Given the description of an element on the screen output the (x, y) to click on. 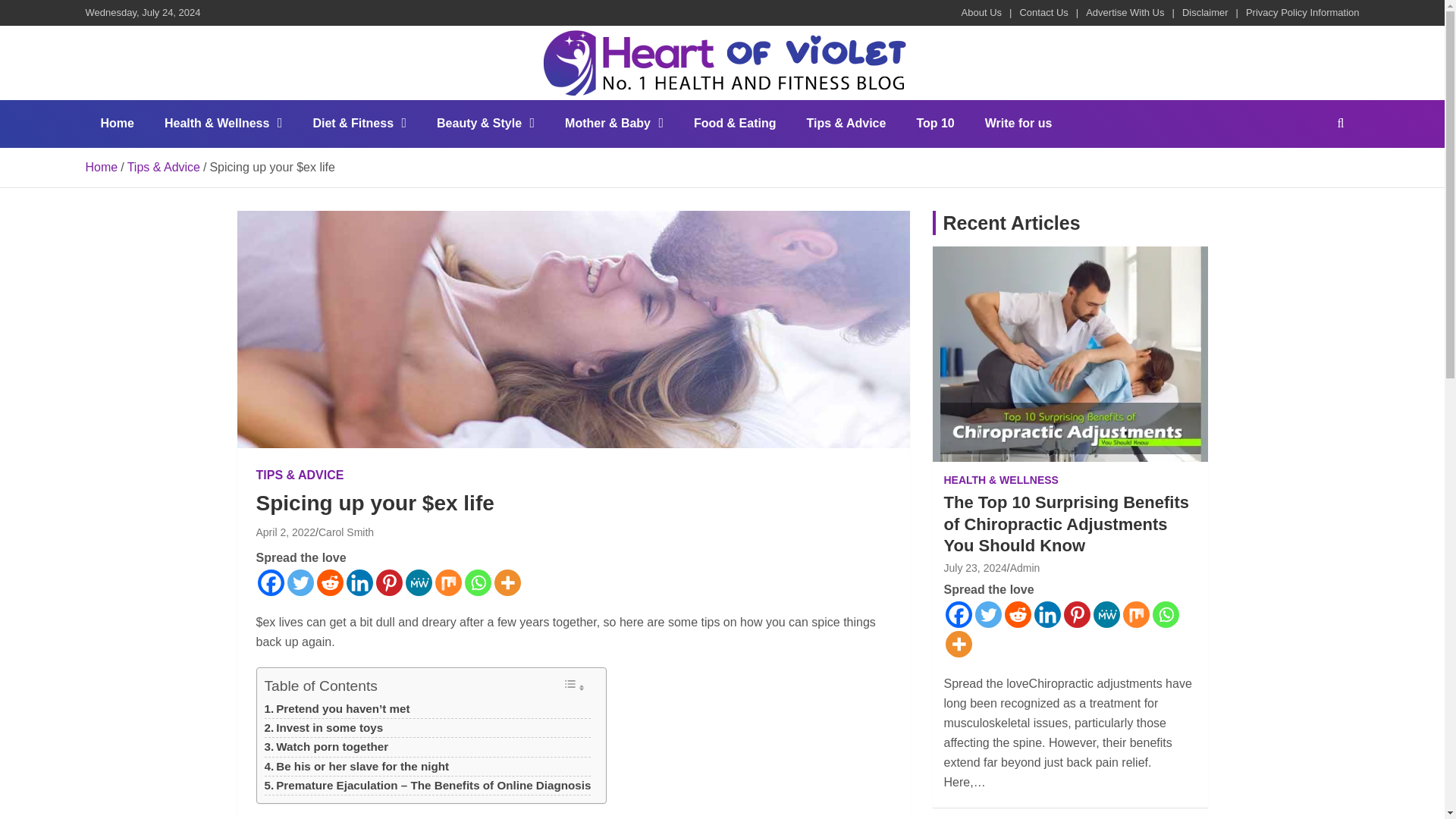
Pinterest (389, 582)
Advertise With Us (1124, 12)
Whatsapp (477, 582)
MeWe (417, 582)
Reddit (330, 582)
Facebook (270, 582)
Privacy Policy Information (1302, 12)
Logo of HeartOfViolet (721, 39)
Home (100, 166)
Write for us (1018, 123)
Twitter (299, 582)
Carol Smith (346, 532)
Home (116, 123)
Disclaimer (1205, 12)
April 2, 2022 (285, 532)
